Given the description of an element on the screen output the (x, y) to click on. 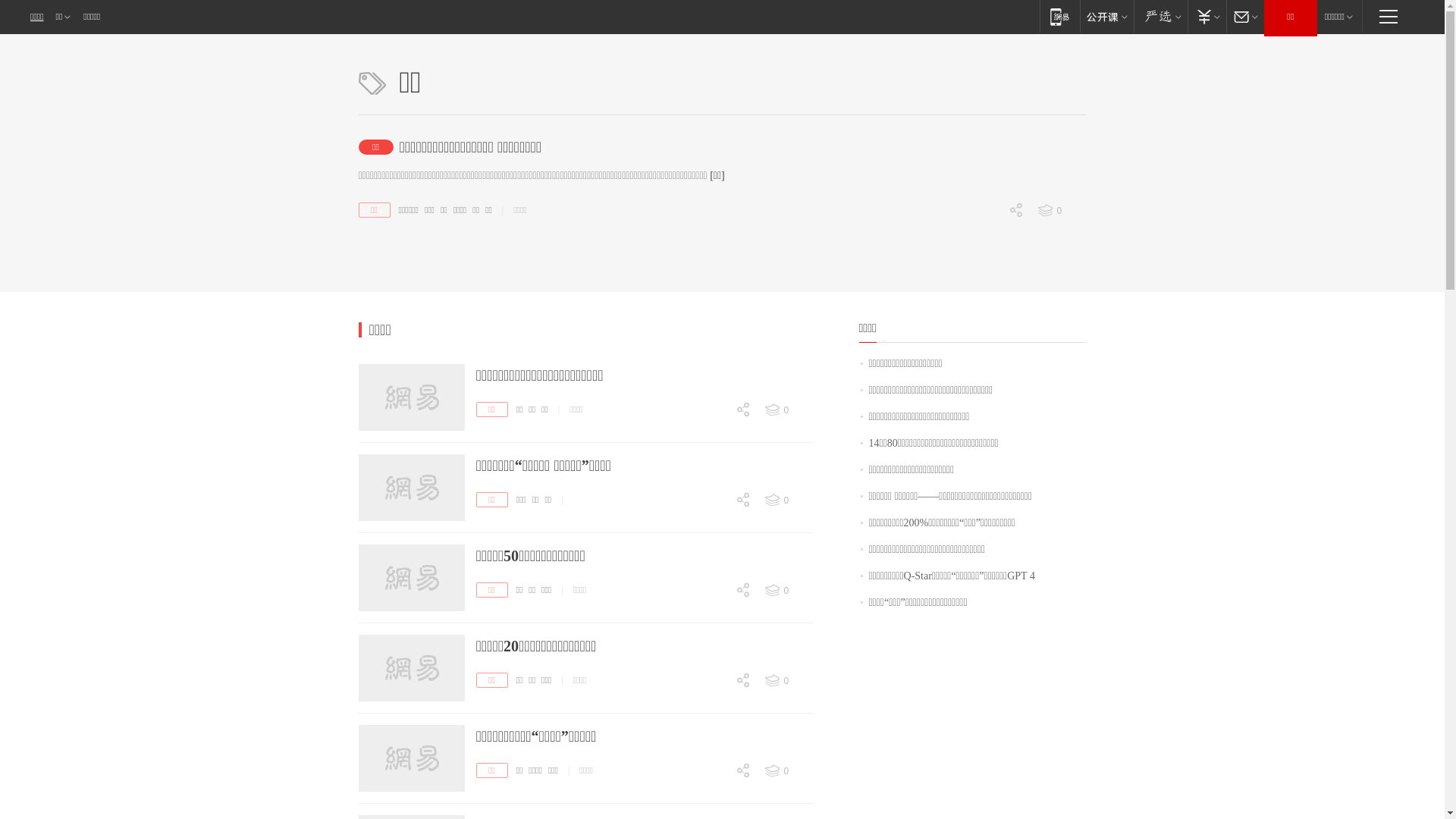
0 Element type: text (712, 605)
0 Element type: text (712, 696)
0 Element type: text (712, 515)
0 Element type: text (712, 579)
0 Element type: text (712, 489)
0 Element type: text (712, 797)
0 Element type: text (712, 706)
0 Element type: text (787, 409)
0 Element type: text (985, 316)
0 Element type: text (787, 680)
0 Element type: text (712, 436)
0 Element type: text (1060, 210)
0 Element type: text (712, 759)
0 Element type: text (787, 590)
0 Element type: text (712, 669)
0 Element type: text (985, 236)
0 Element type: text (712, 526)
0 Element type: text (712, 616)
0 Element type: text (985, 289)
0 Element type: text (787, 770)
0 Element type: text (712, 786)
0 Element type: text (787, 500)
